Given the description of an element on the screen output the (x, y) to click on. 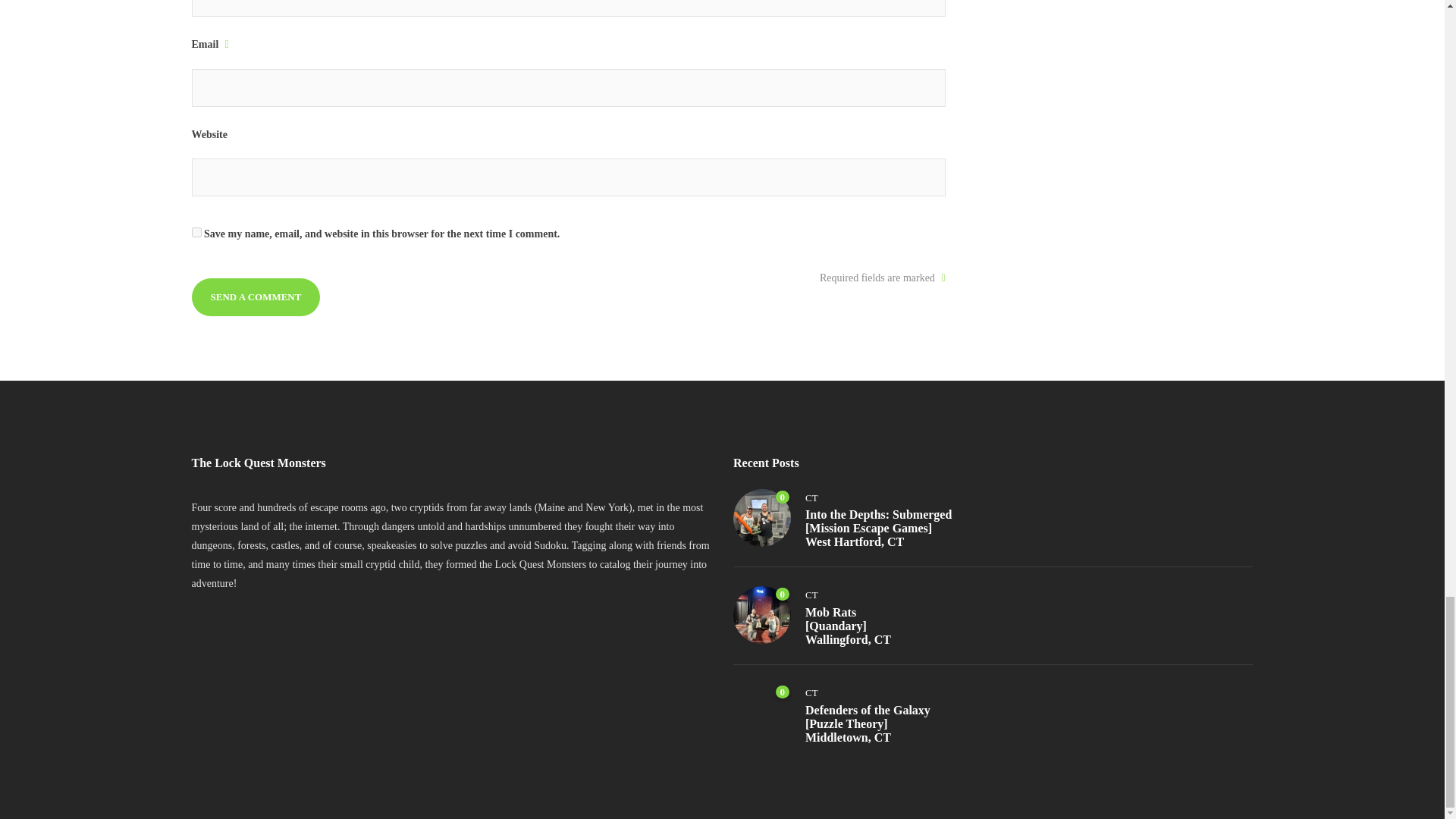
yes (195, 232)
Send a comment (255, 297)
Send a comment (255, 297)
